Given the description of an element on the screen output the (x, y) to click on. 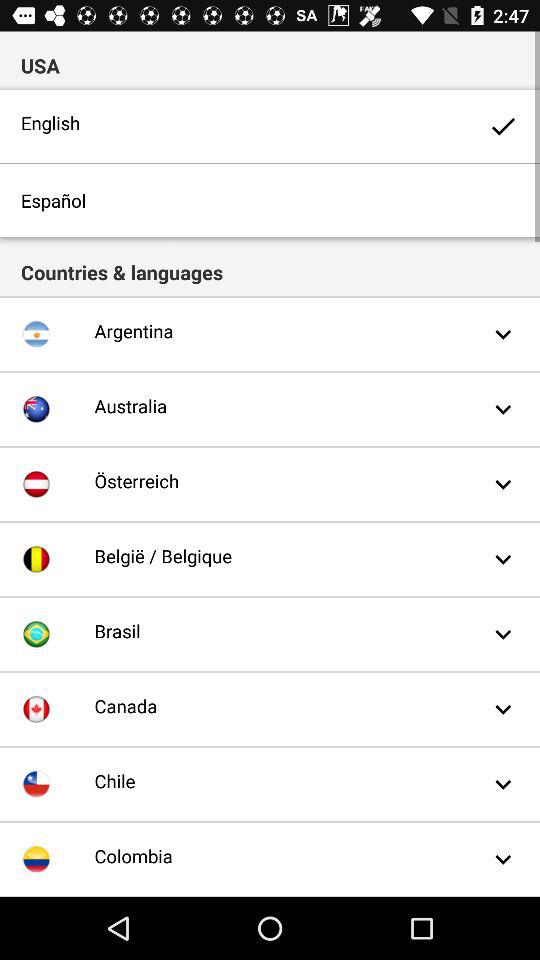
swipe until the english (270, 126)
